Given the description of an element on the screen output the (x, y) to click on. 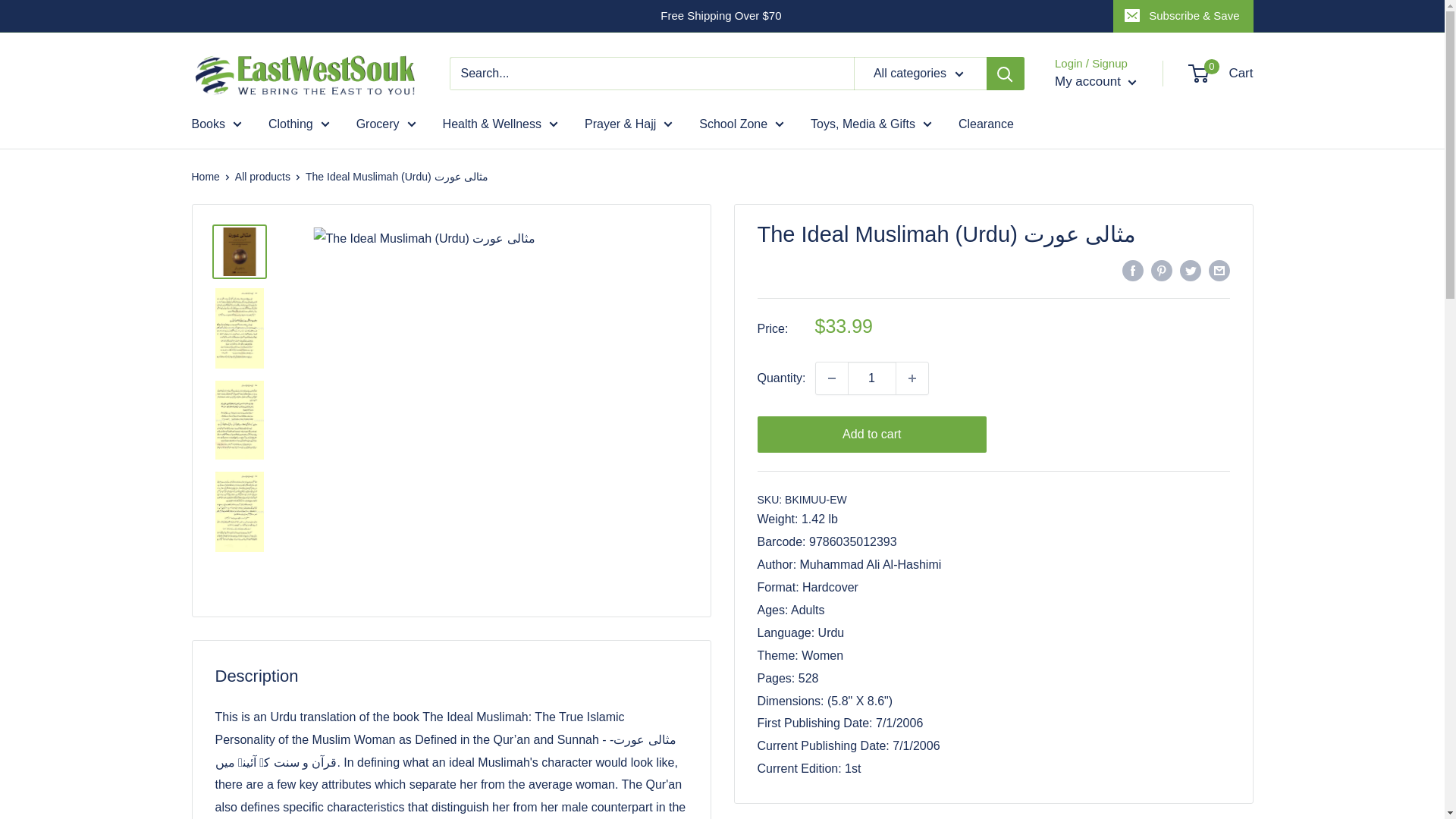
Decrease quantity by 1 (831, 377)
Increase quantity by 1 (912, 377)
1 (871, 377)
